Given the description of an element on the screen output the (x, y) to click on. 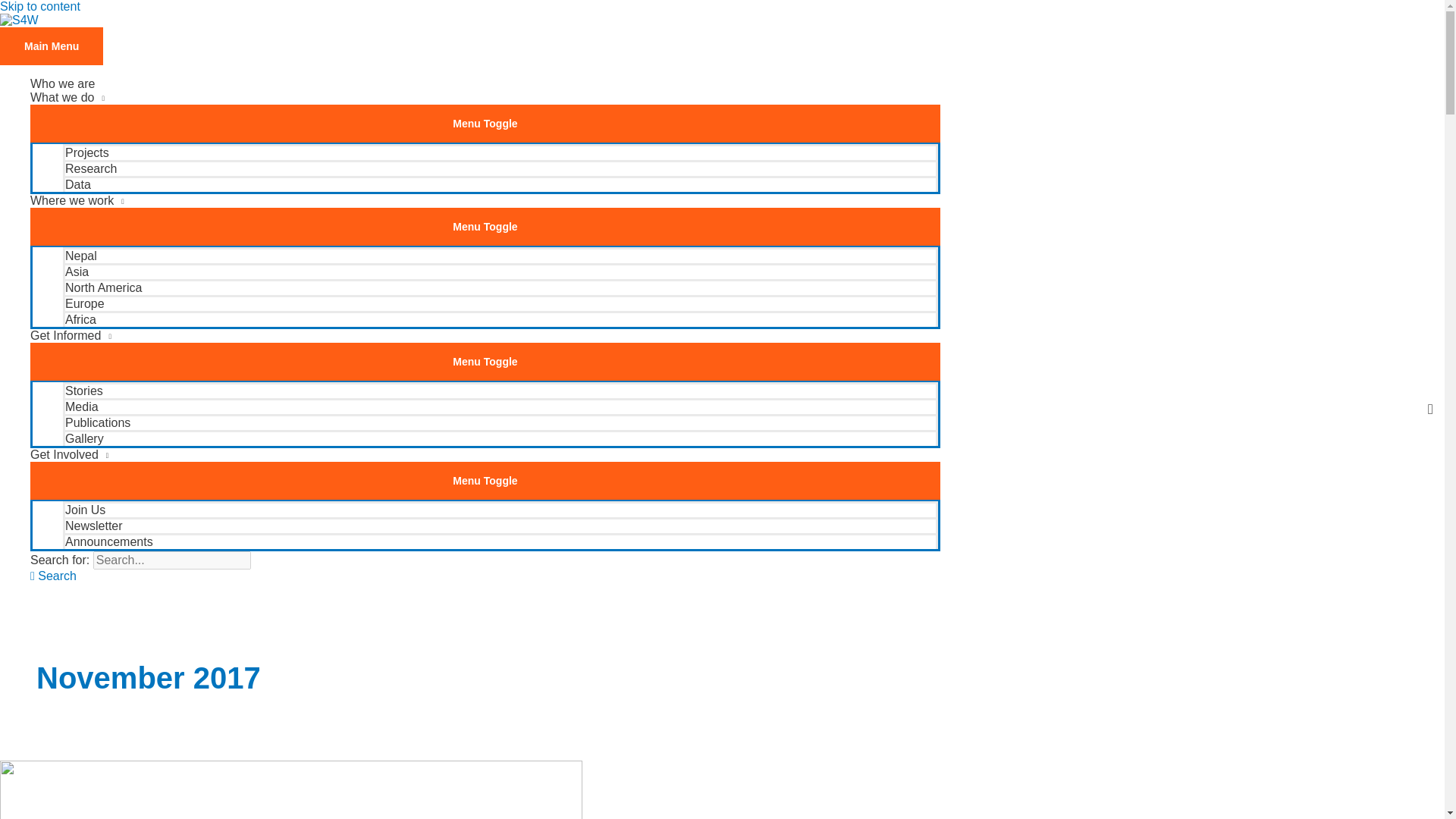
Where we work (485, 201)
Join Us (499, 508)
Asia (499, 270)
Nepal (499, 254)
North America (499, 286)
Media (499, 406)
Publications (499, 421)
Skip to content (40, 6)
Skip to content (40, 6)
Africa (499, 318)
